Given the description of an element on the screen output the (x, y) to click on. 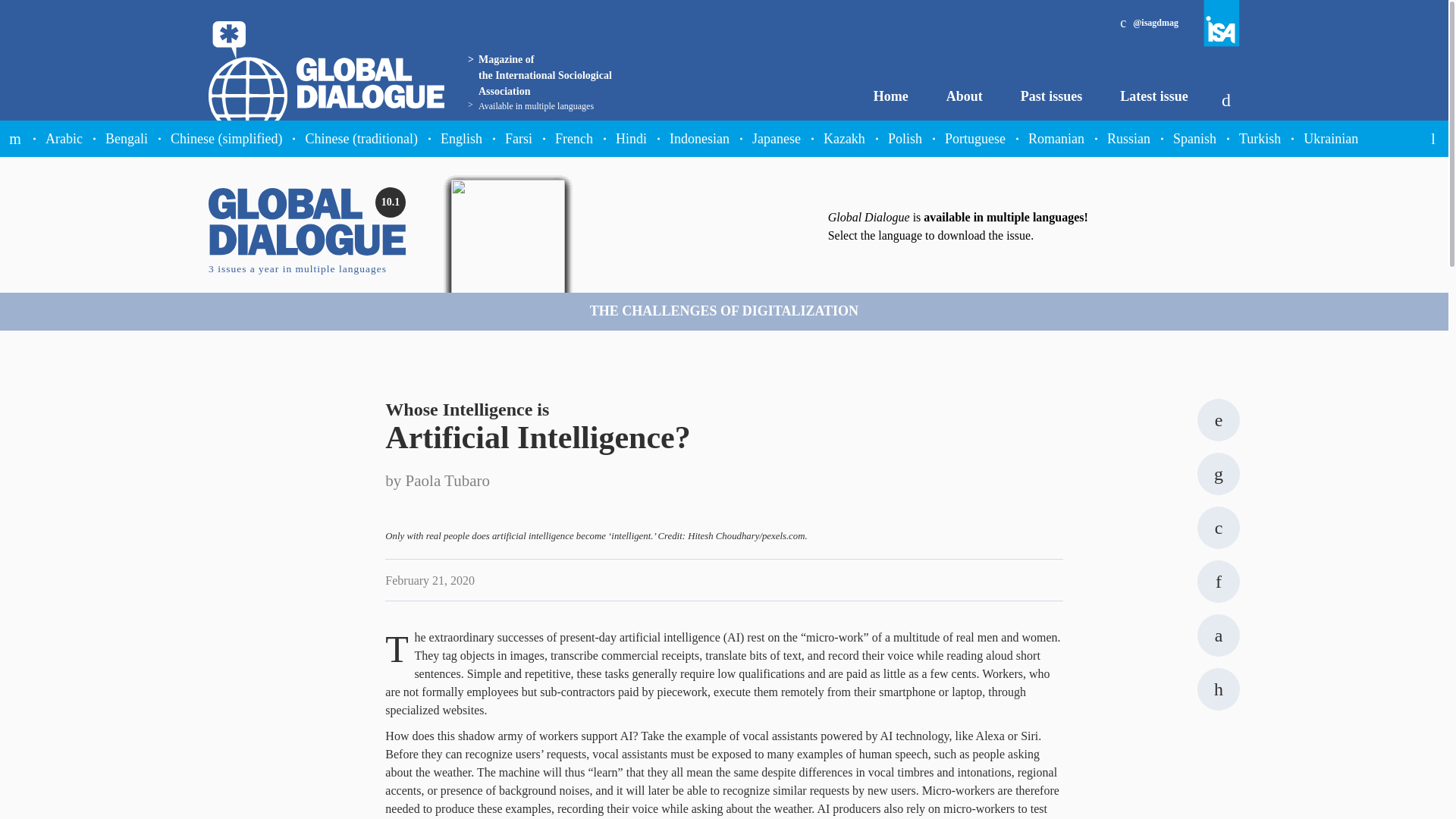
Latest issue (1153, 96)
Farsi (518, 138)
Past issues (1051, 96)
Romanian (1056, 138)
Hindi (631, 138)
Spanish (1194, 138)
English (461, 138)
Kazakh (844, 138)
Home (890, 96)
Bengali (126, 138)
